Given the description of an element on the screen output the (x, y) to click on. 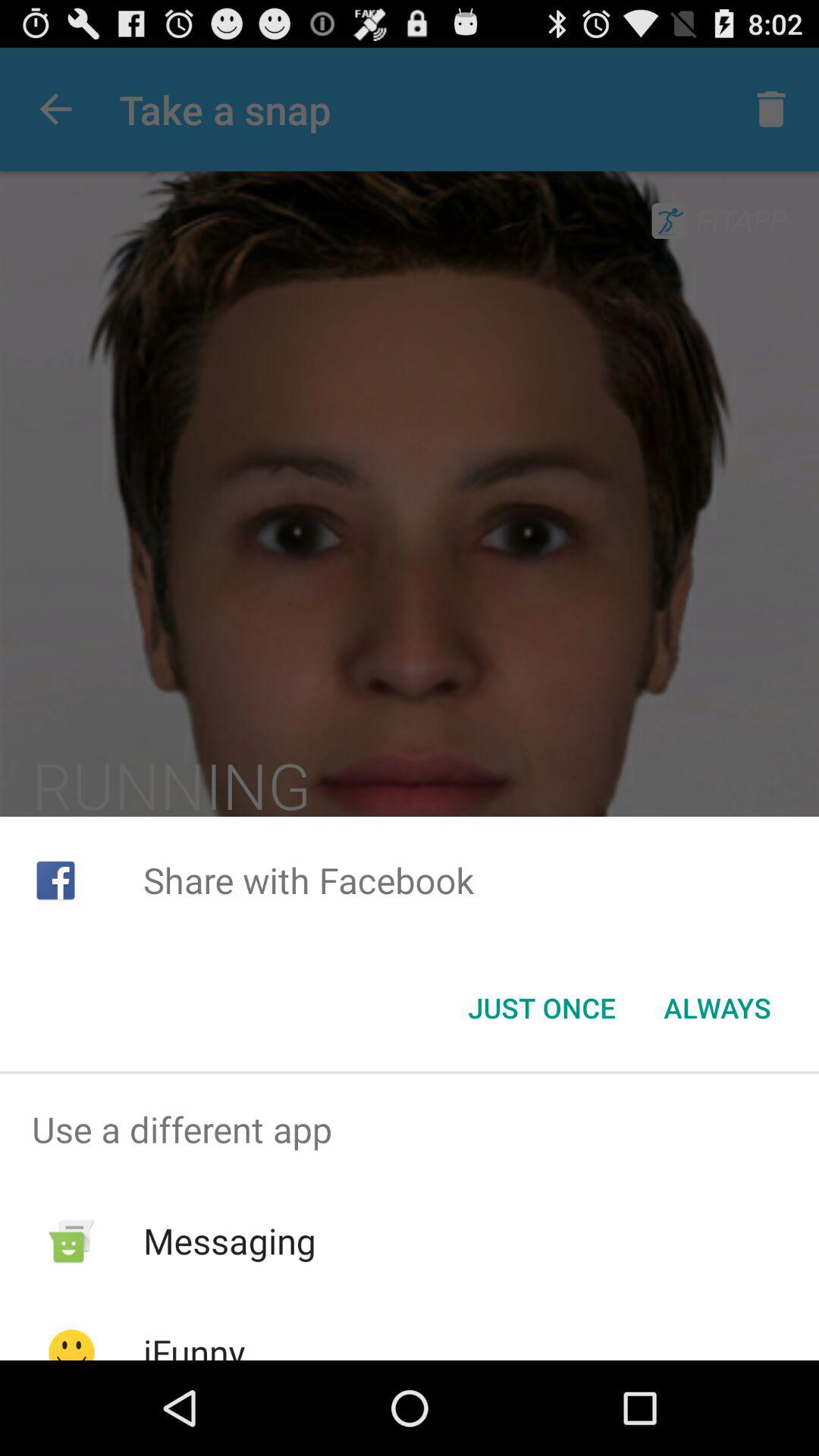
turn off the use a different (409, 1129)
